Given the description of an element on the screen output the (x, y) to click on. 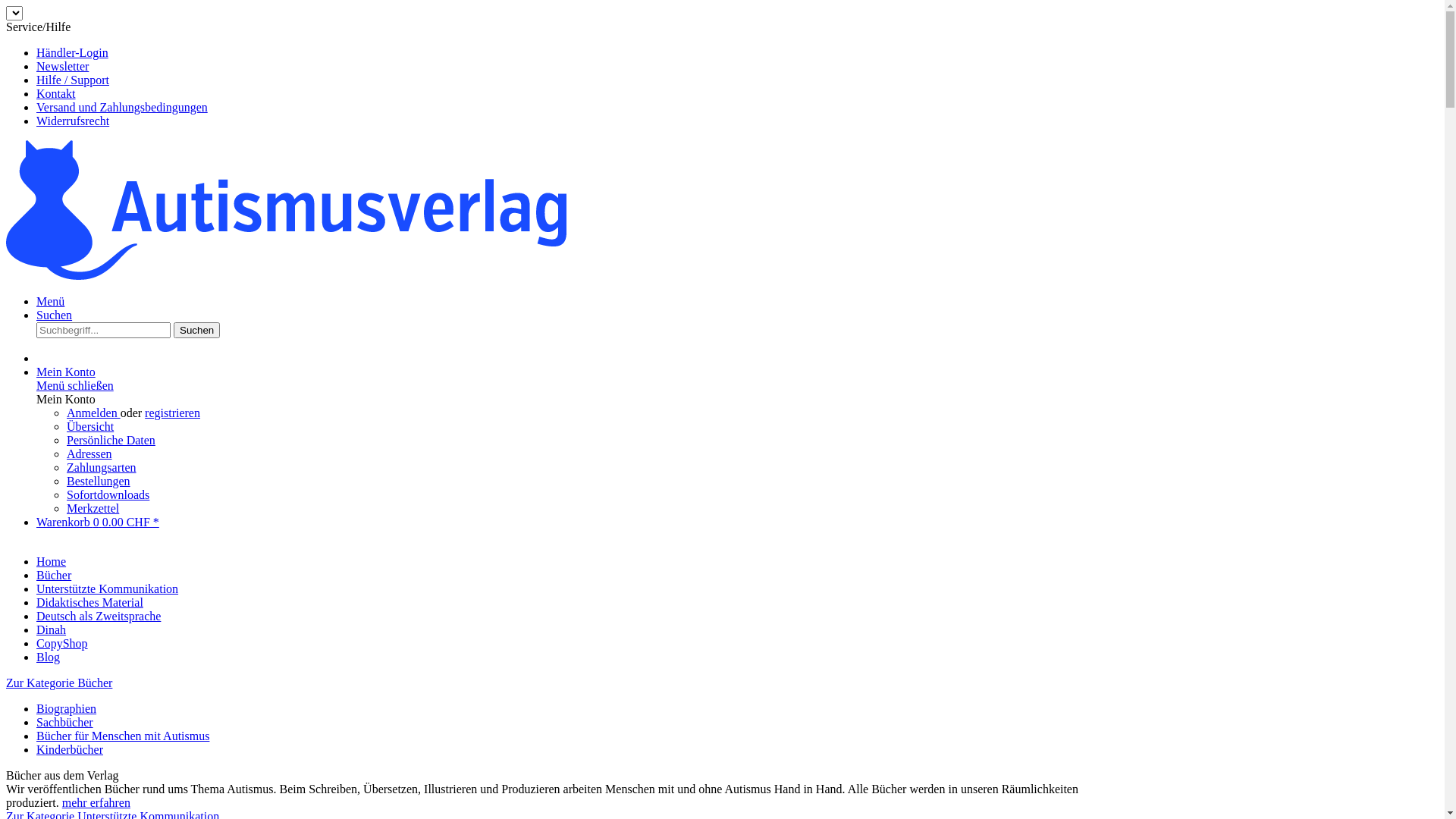
mehr erfahren Element type: text (96, 802)
Didaktisches Material Element type: text (89, 602)
Biographien Element type: text (66, 708)
Anmelden Element type: text (93, 412)
Home Element type: text (50, 561)
Deutsch als Zweitsprache Element type: text (98, 615)
registrieren Element type: text (172, 412)
Blog Element type: text (47, 656)
Warenkorb 0 0.00 CHF * Element type: text (97, 521)
Hilfe / Support Element type: text (72, 79)
Adressen Element type: text (89, 453)
Merkzettel Element type: text (92, 508)
Widerrufsrecht Element type: text (72, 120)
Suchen Element type: text (196, 330)
Bestellungen Element type: text (98, 480)
Suchen Element type: text (54, 314)
Mein Konto Element type: text (65, 371)
Autismusverlag - zur Startseite wechseln Element type: hover (286, 275)
Dinah Element type: text (50, 629)
Versand und Zahlungsbedingungen Element type: text (121, 106)
Newsletter Element type: text (62, 65)
Kontakt Element type: text (55, 93)
CopyShop Element type: text (61, 643)
Zahlungsarten Element type: text (101, 467)
Sofortdownloads Element type: text (107, 494)
